Given the description of an element on the screen output the (x, y) to click on. 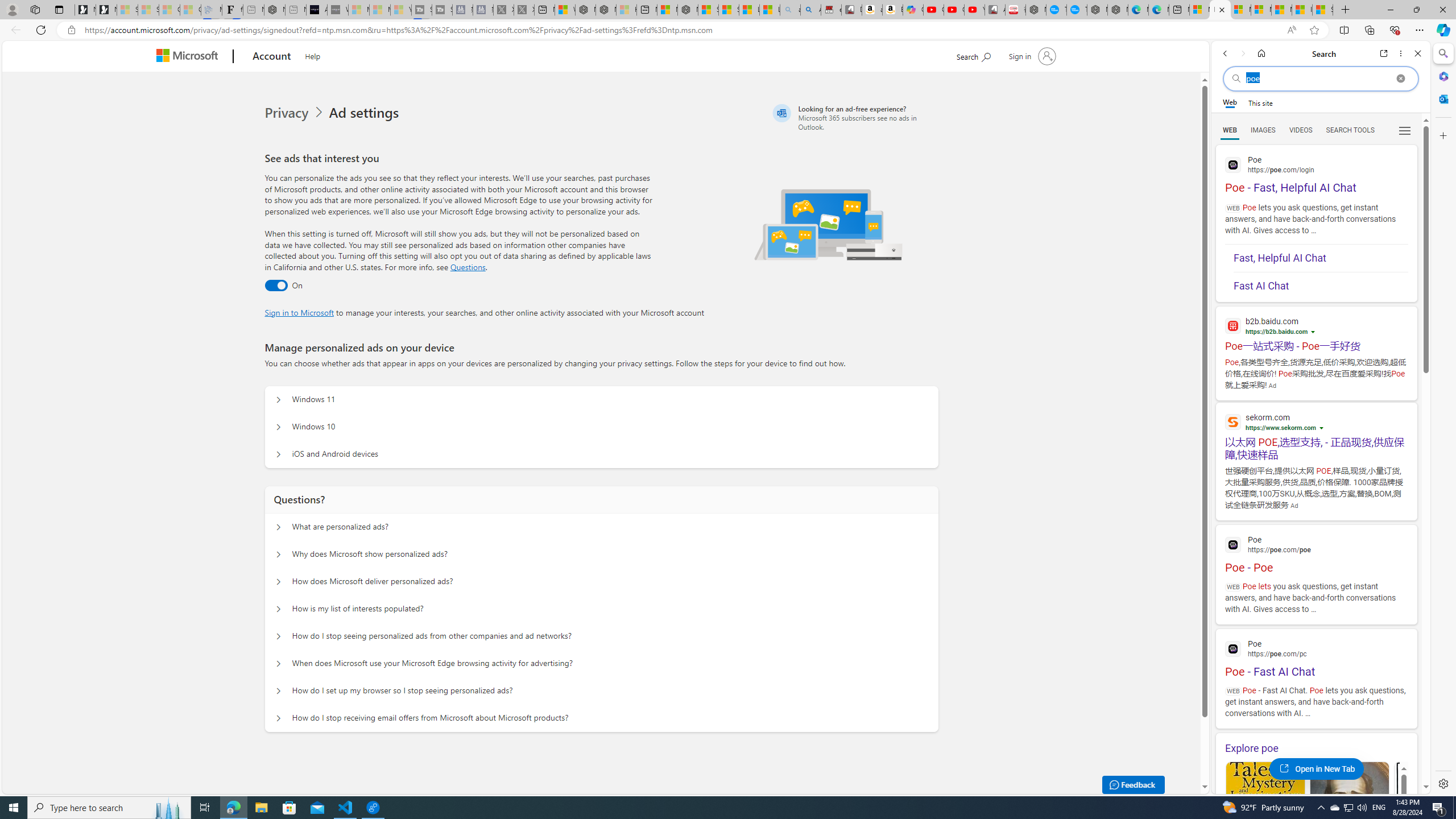
Clear (1400, 78)
Search Filter, WEB (1230, 129)
Questions? What are personalized ads? (278, 526)
Sign in to Microsoft (299, 311)
More options (1401, 53)
Search Filter, Search Tools (1350, 129)
AI Voice Changer for PC and Mac - Voice.ai (316, 9)
Nordace - Nordace Siena Is Not An Ordinary Backpack (687, 9)
Sign in to your account (1031, 55)
Questions? How is my list of interests populated? (278, 608)
